Given the description of an element on the screen output the (x, y) to click on. 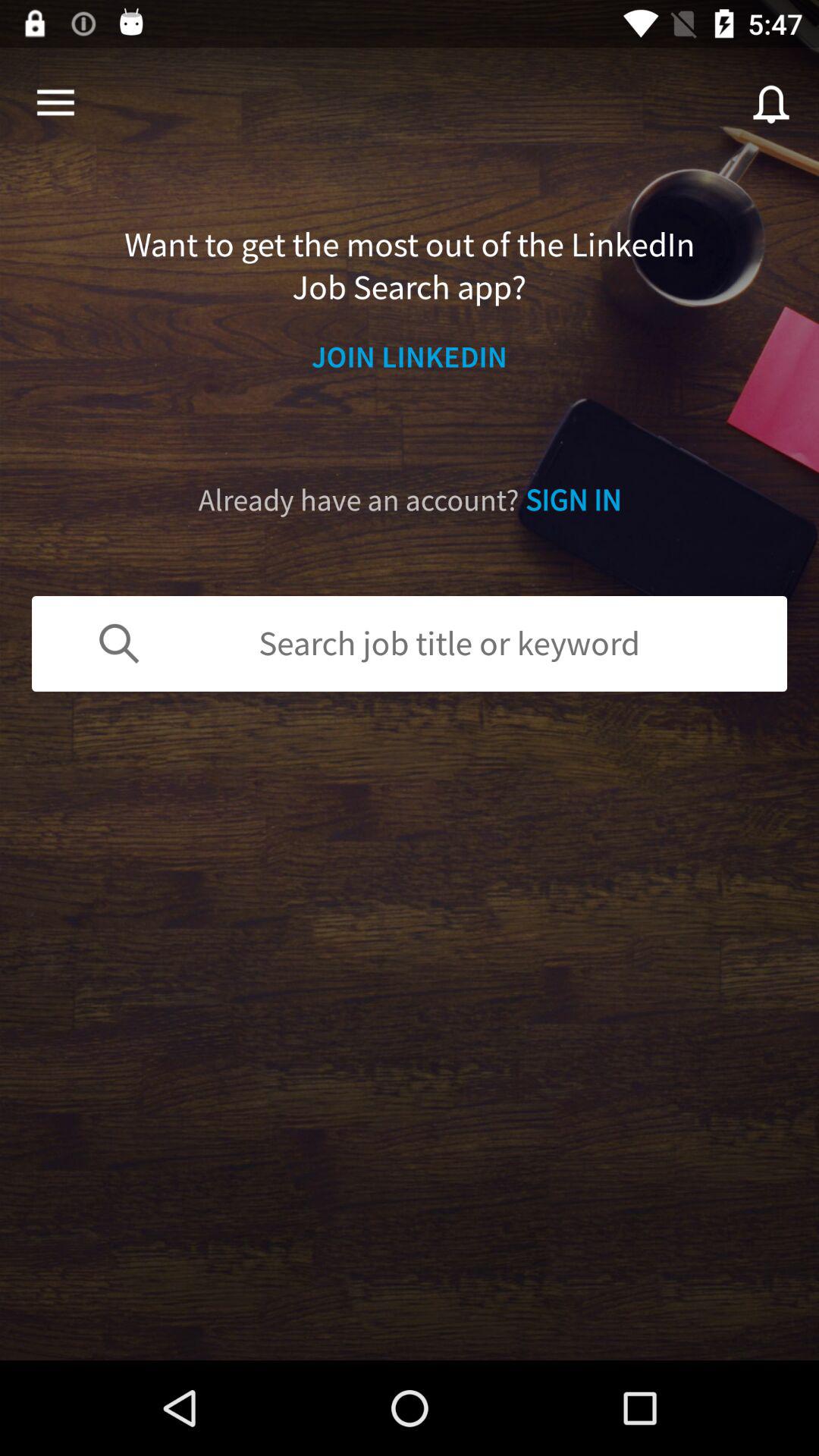
click the icon above search job title icon (409, 500)
